Given the description of an element on the screen output the (x, y) to click on. 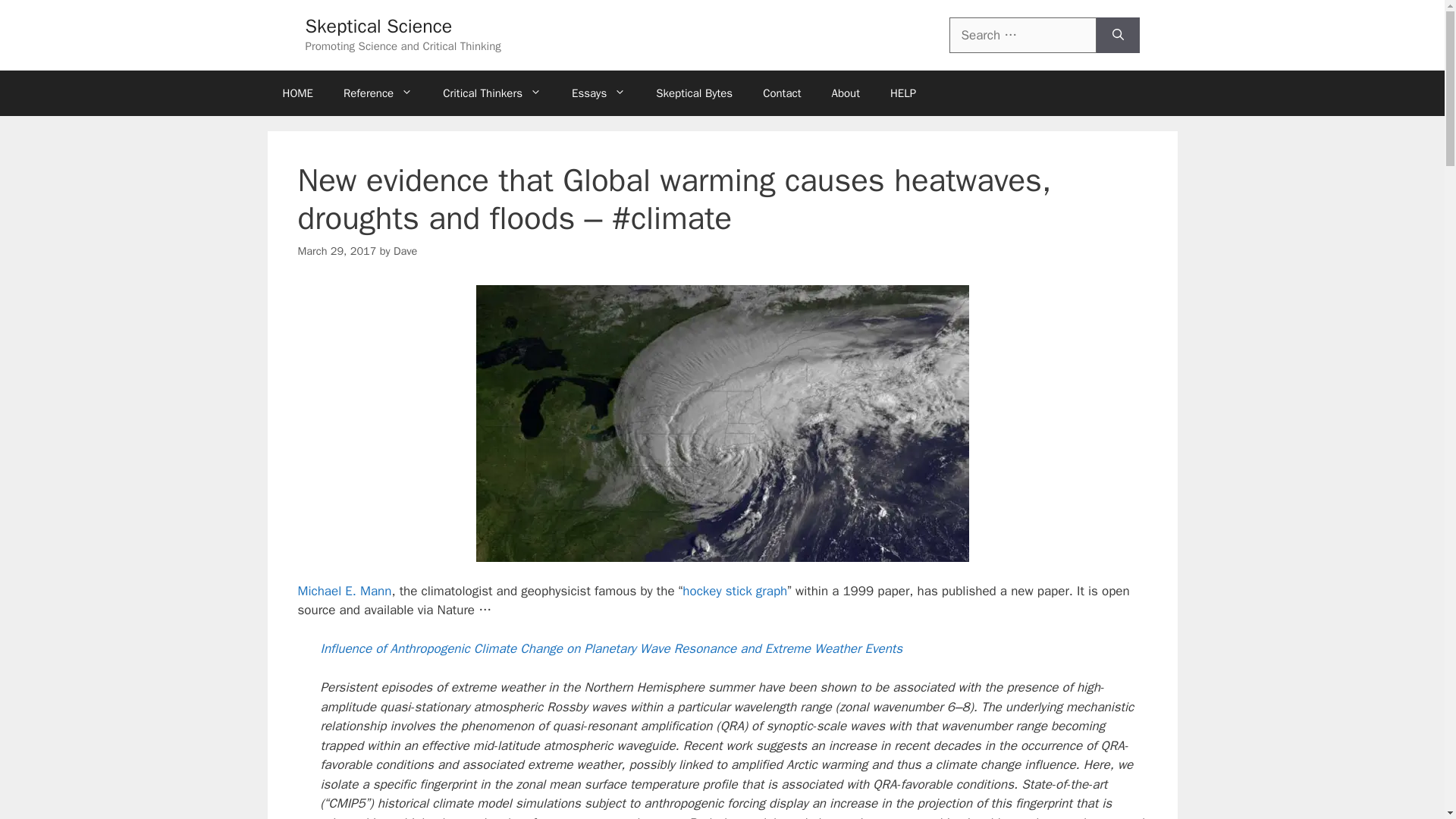
View all posts by Dave (404, 250)
Michael E. Mann (344, 590)
Dave (404, 250)
Critical Thinkers (492, 92)
Skeptical Science (377, 25)
Reference (378, 92)
Hockey stick graph (734, 590)
About (845, 92)
Essays (598, 92)
hockey stick graph (734, 590)
